Given the description of an element on the screen output the (x, y) to click on. 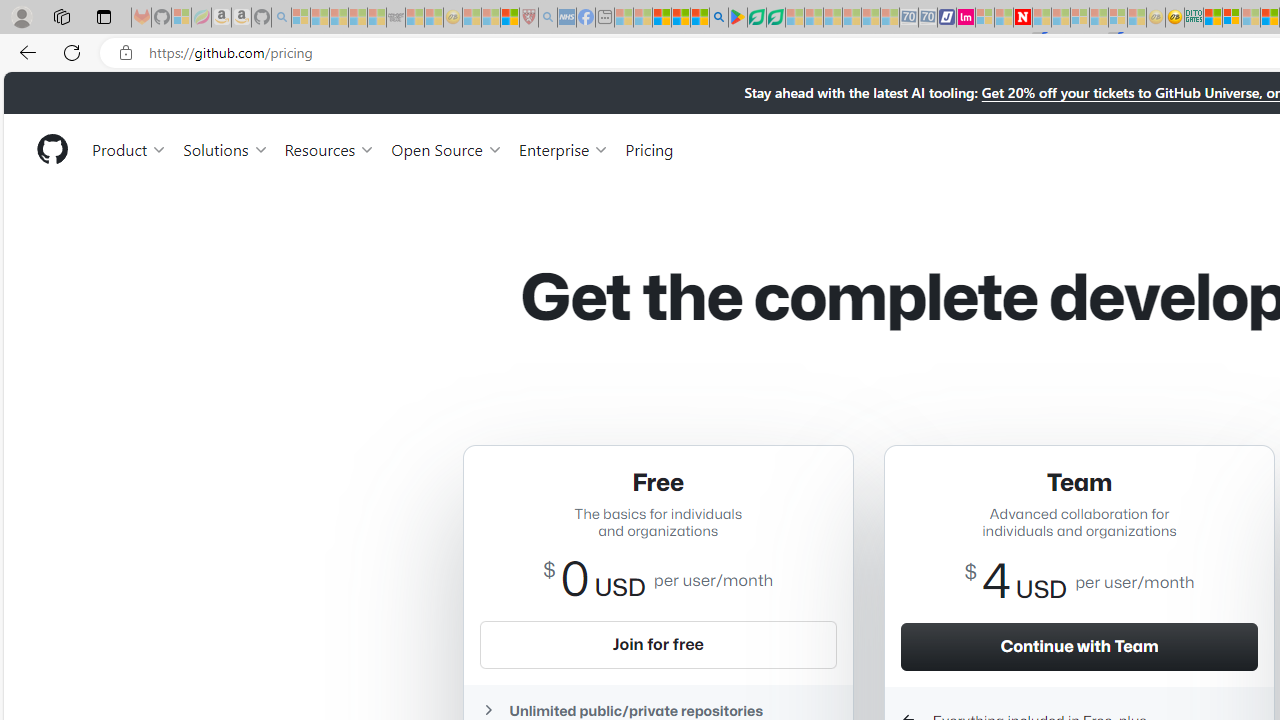
Open Source (446, 148)
Enterprise (563, 148)
Pricing (649, 148)
Solutions (225, 148)
